Given the description of an element on the screen output the (x, y) to click on. 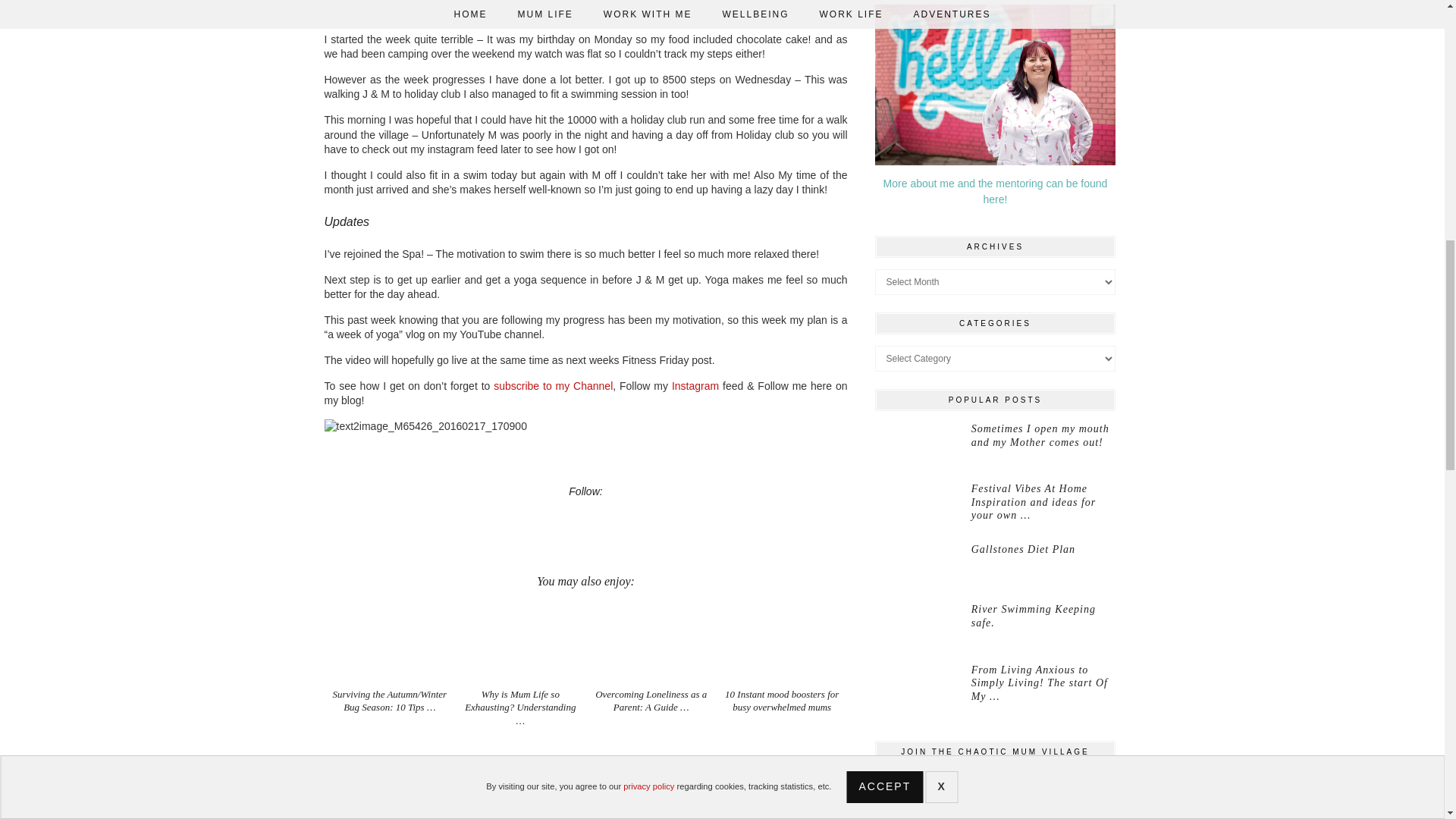
subscribe to my Channel (552, 386)
Instagram (695, 386)
